Given the description of an element on the screen output the (x, y) to click on. 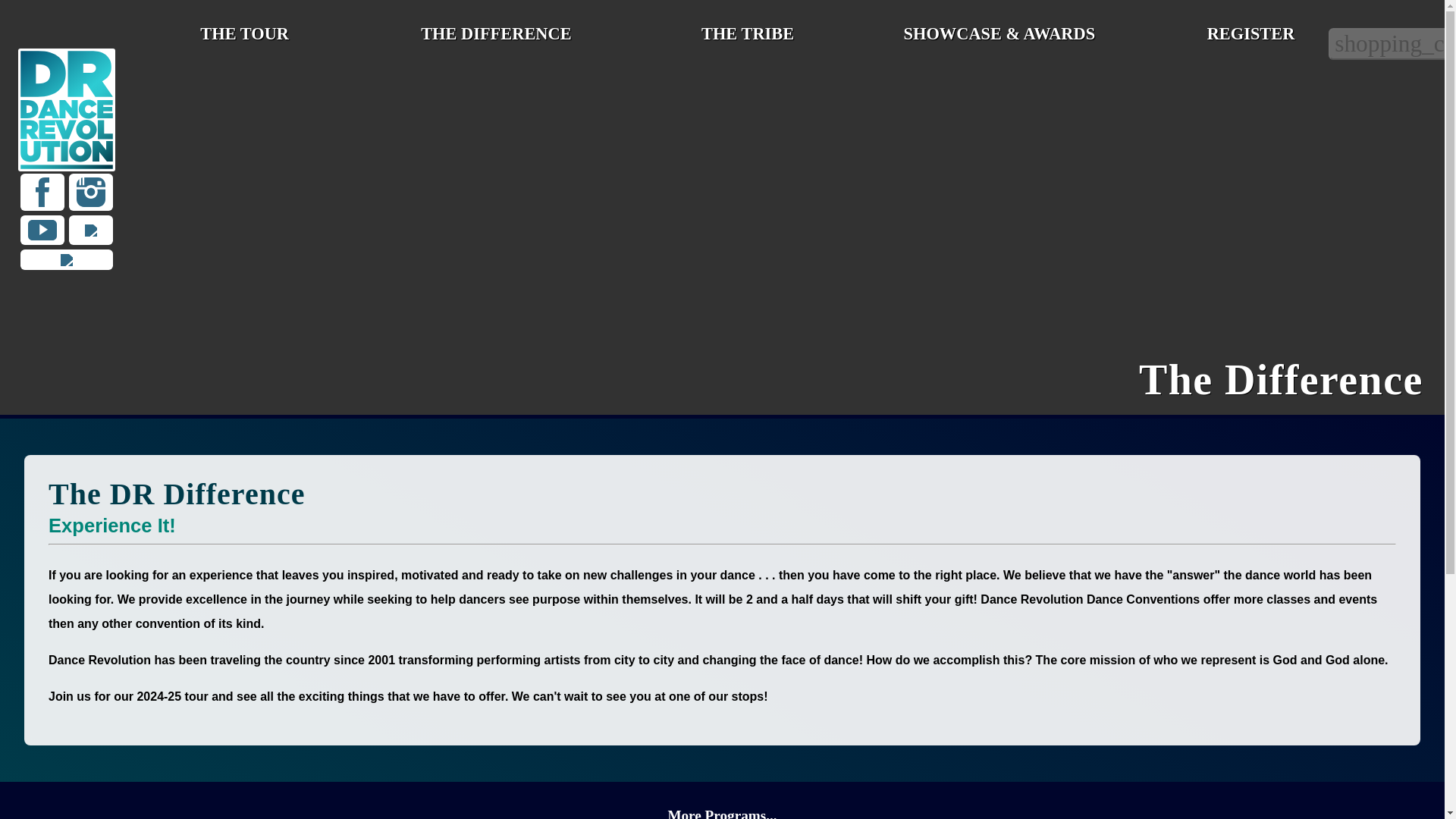
THE TRIBE (747, 33)
THE TOUR (245, 33)
REGISTER (1251, 33)
THE DIFFERENCE (497, 33)
